Given the description of an element on the screen output the (x, y) to click on. 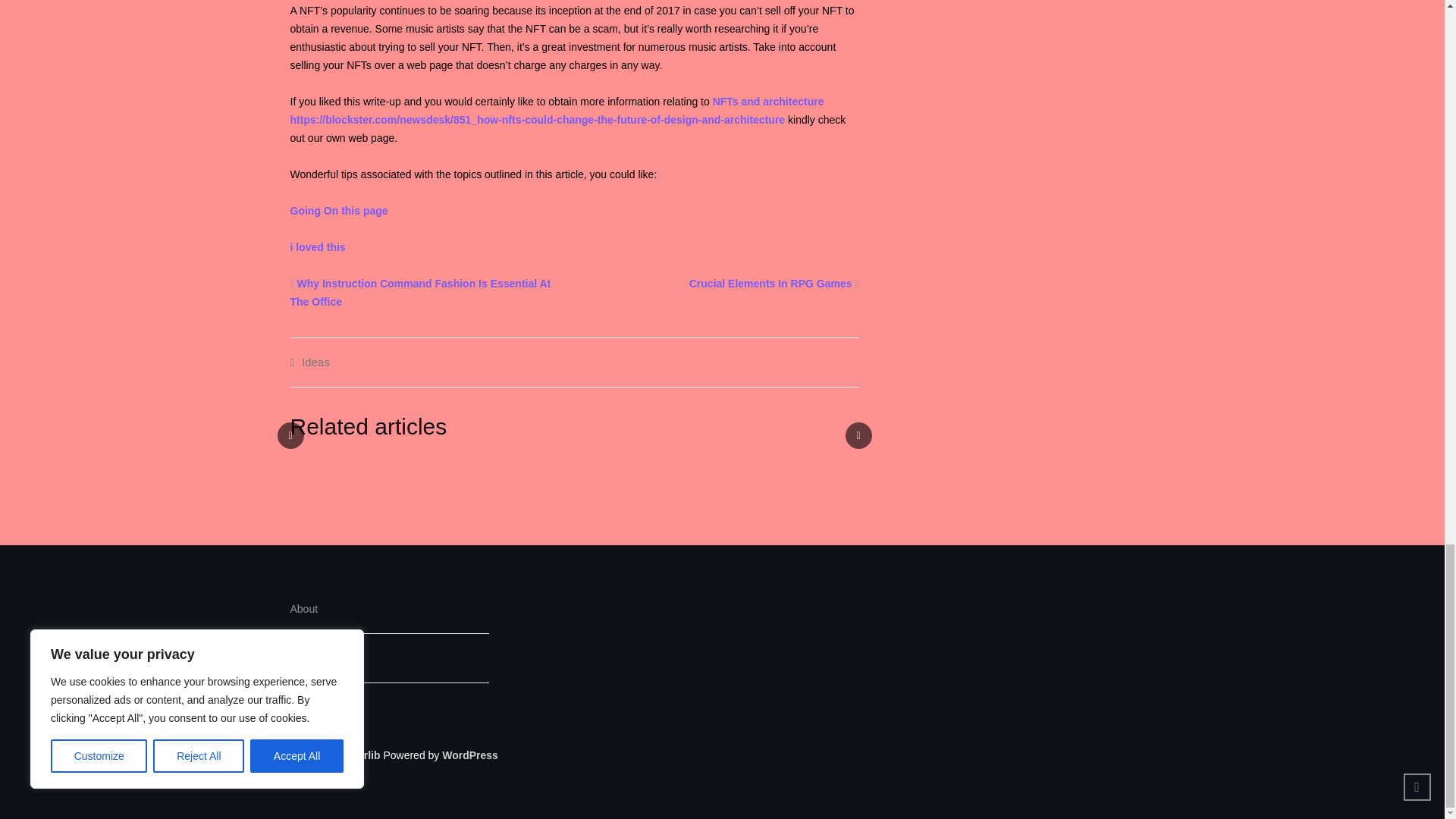
i loved this (317, 246)
Ideas (315, 361)
Colorlib (360, 755)
Why Instruction Command Fashion Is Essential At The Office (419, 292)
Crucial Elements In RPG Games (769, 283)
WordPress.org (469, 755)
Going On this page (338, 210)
